Given the description of an element on the screen output the (x, y) to click on. 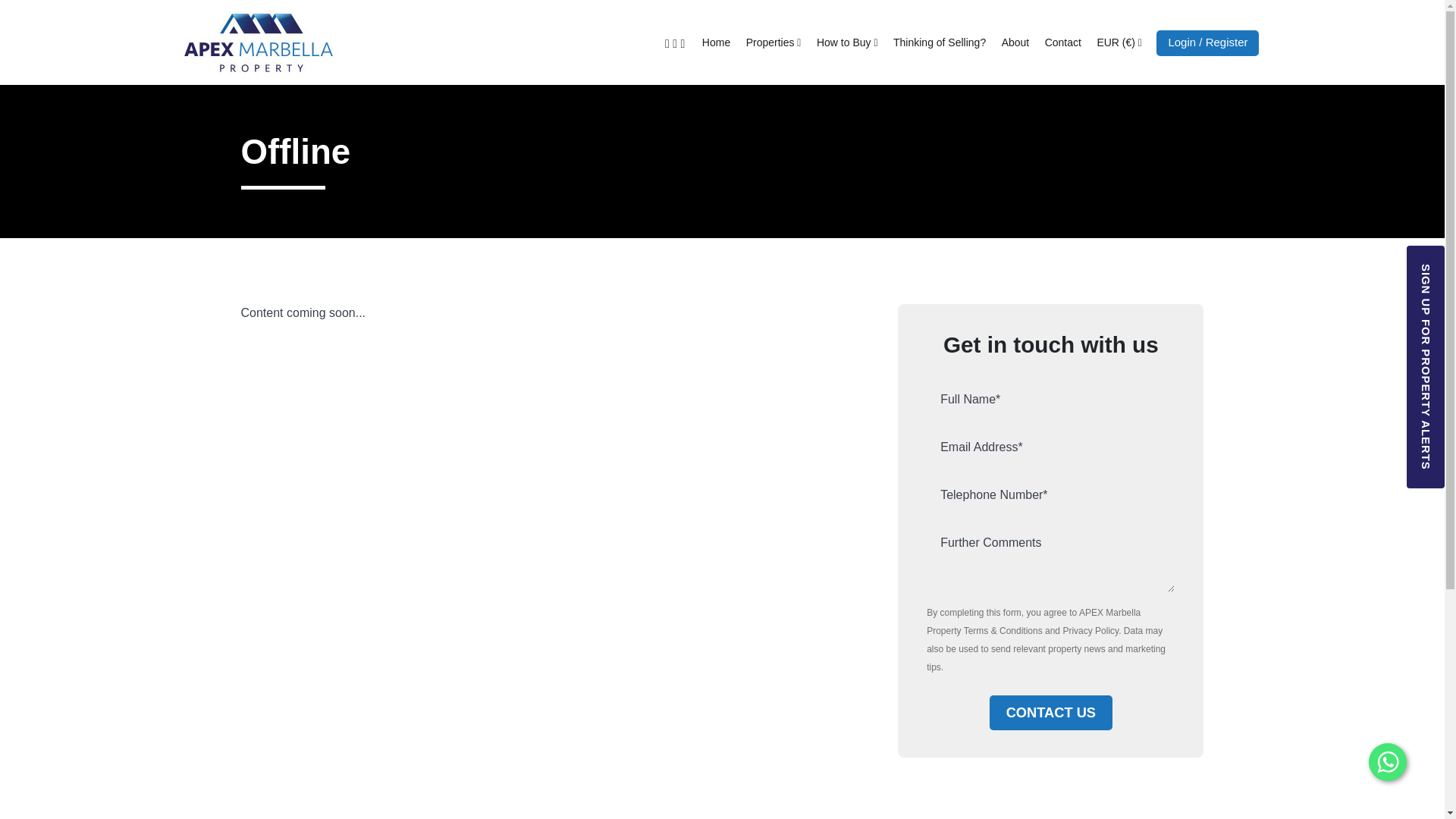
Properties (773, 41)
Contact (1062, 42)
About (1015, 42)
Home (715, 42)
Thinking of Selling? (939, 42)
Privacy Policy (1090, 630)
How to Buy (847, 41)
CONTACT US (1051, 712)
